Given the description of an element on the screen output the (x, y) to click on. 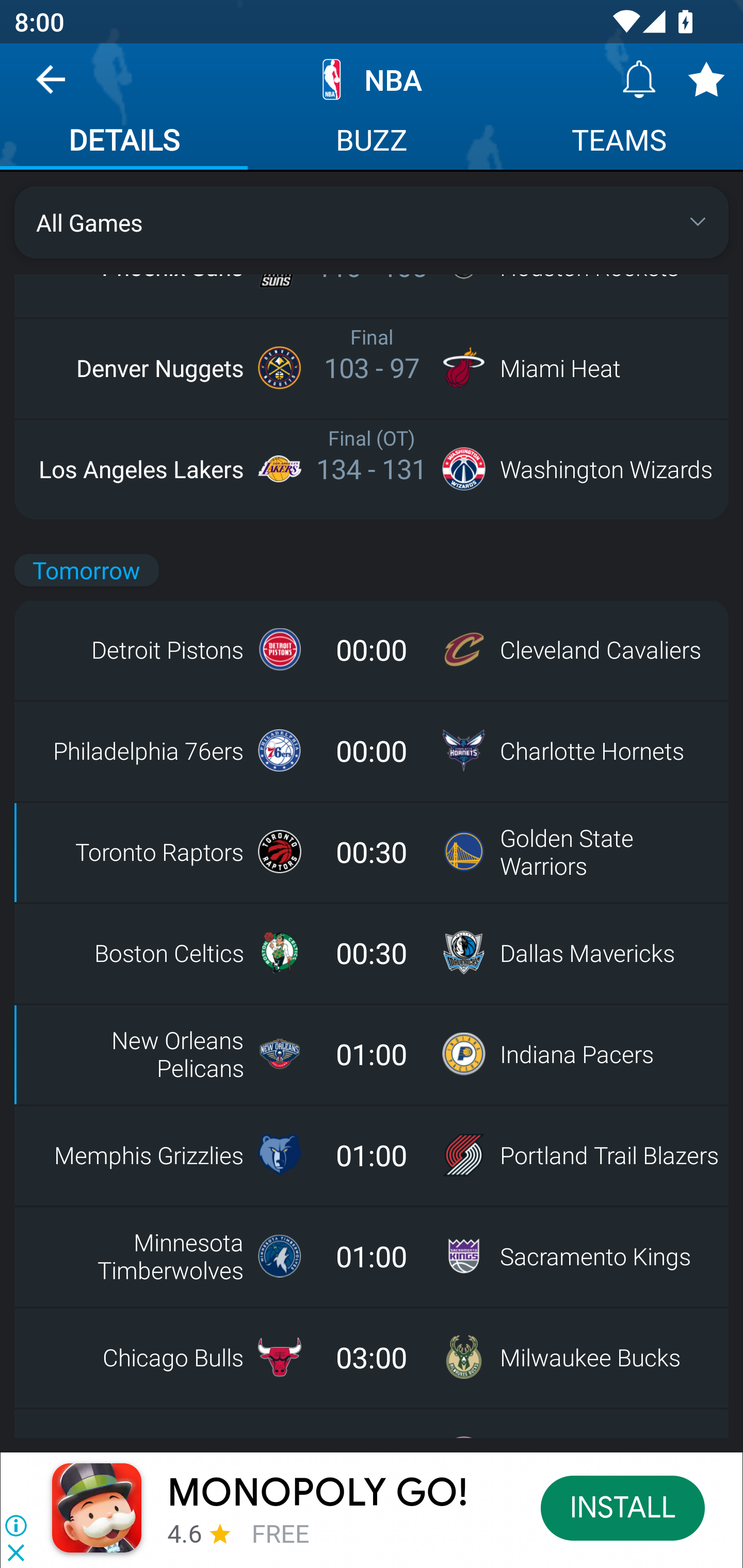
Navigate up (50, 86)
DETAILS (123, 142)
BUZZ (371, 142)
TEAMS (619, 142)
All Games (371, 222)
Denver Nuggets Final 103 - 97 Miami Heat (371, 367)
Detroit Pistons 00:00 Cleveland Cavaliers (371, 648)
Philadelphia 76ers 00:00 Charlotte Hornets (371, 750)
Toronto Raptors 00:30 Golden State Warriors (371, 851)
Boston Celtics 00:30 Dallas Mavericks (371, 952)
New Orleans Pelicans 01:00 Indiana Pacers (371, 1053)
Memphis Grizzlies 01:00 Portland Trail Blazers (371, 1154)
Minnesota Timberwolves 01:00 Sacramento Kings (371, 1255)
Chicago Bulls 03:00 Milwaukee Bucks (371, 1357)
MONOPOLY GO! (318, 1493)
INSTALL (623, 1507)
